Given the description of an element on the screen output the (x, y) to click on. 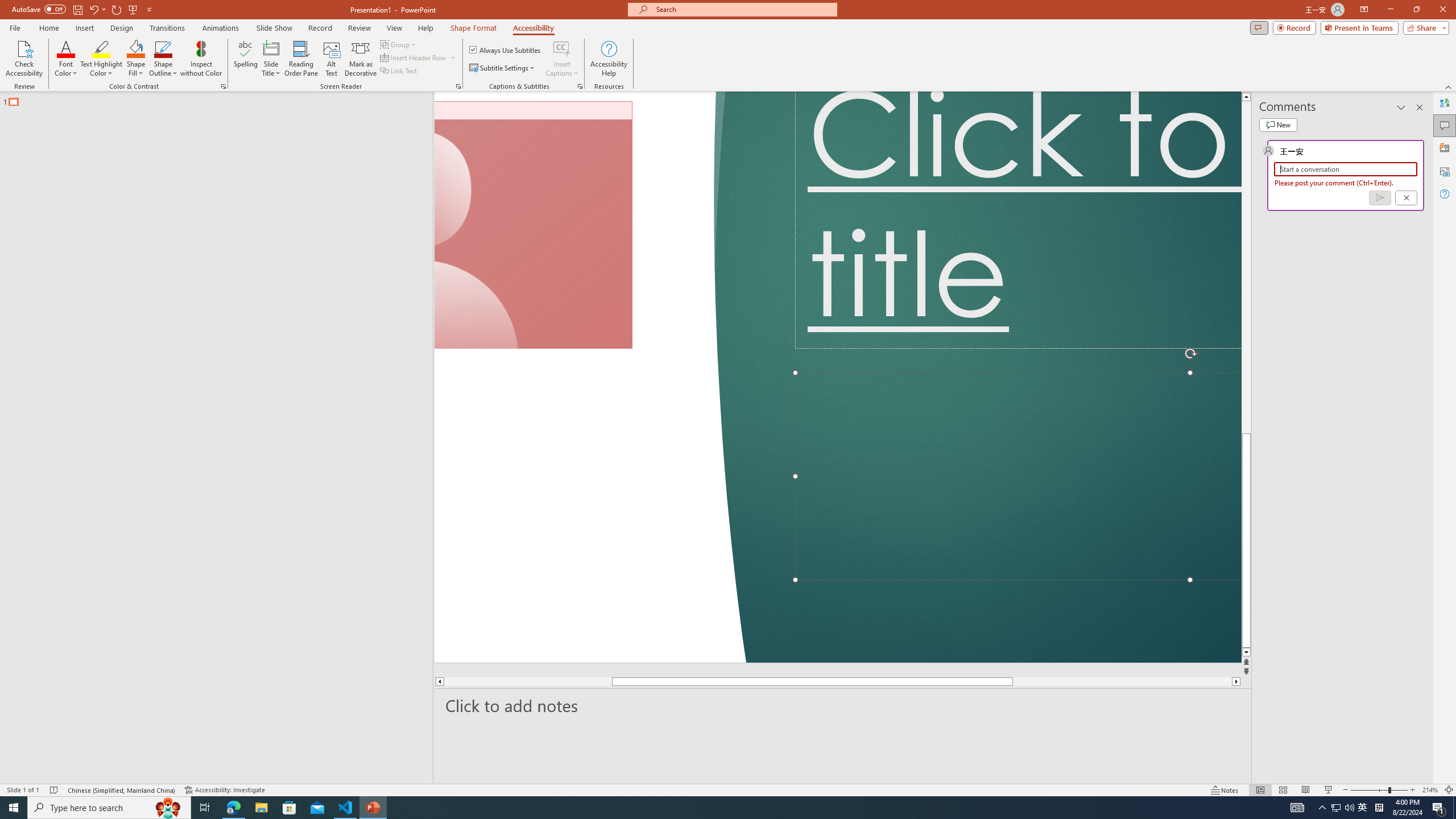
Restore Down (1394, 18)
Text Highlight Color (288, 102)
Character Border (374, 77)
AutomationID: BadgeAnchorLargeTicker (26, 800)
Heading 2 (972, 91)
Underline (148, 102)
Row Down (1025, 92)
Underline (142, 102)
Close (1435, 18)
Quick Access Toolbar (133, 18)
AutomationID: QuickStylesGallery (841, 91)
Line and Paragraph Spacing (527, 102)
